Given the description of an element on the screen output the (x, y) to click on. 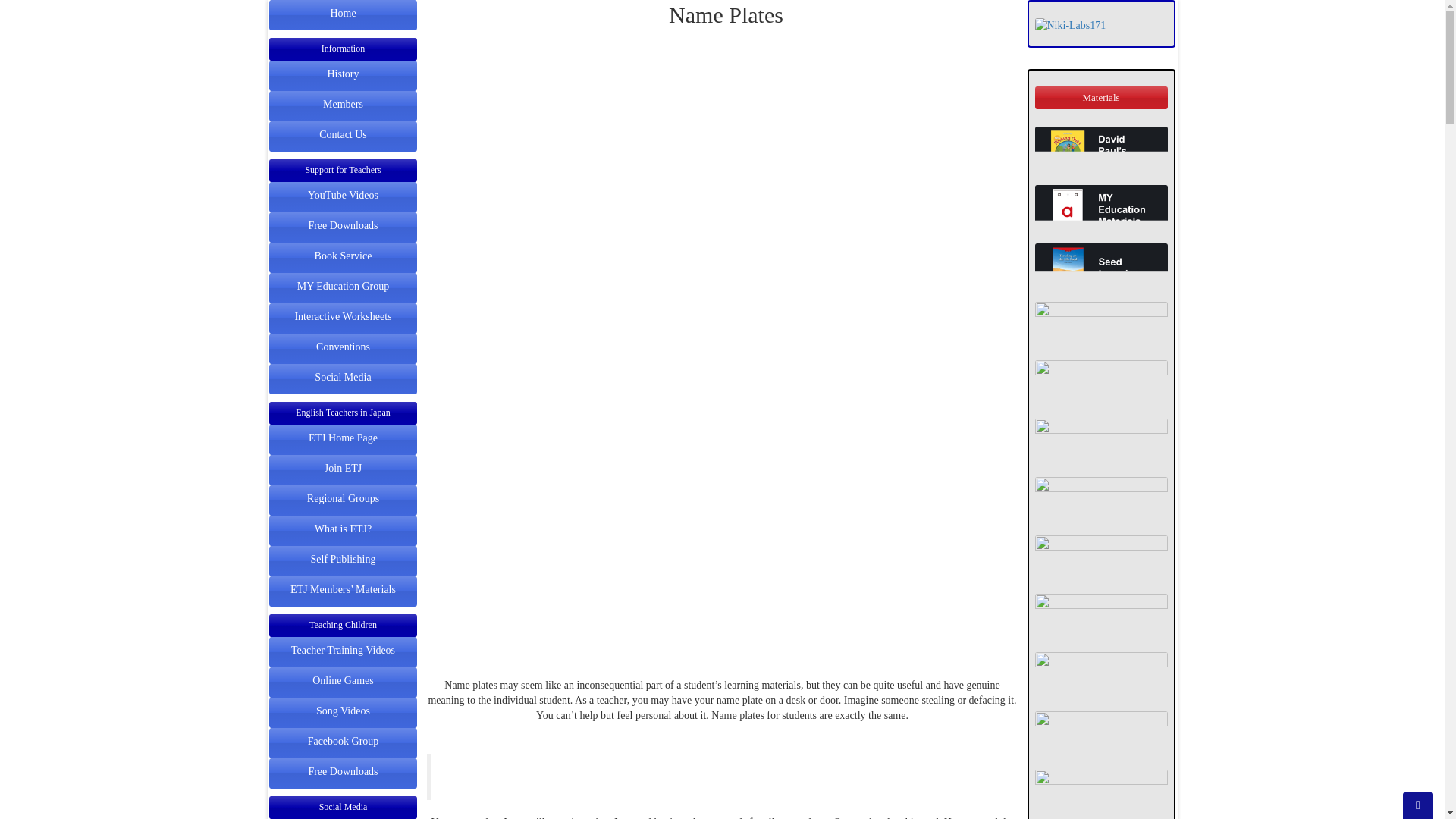
YouTube Videos (342, 194)
Online Games (342, 679)
ETJ Home Page (342, 436)
Interactive Worksheets (342, 315)
Free Downloads (342, 224)
myeducation (1100, 210)
MY Education Group (343, 285)
robertbl40a (1100, 560)
Facebook Group (342, 740)
wordenginebl40a (1100, 443)
Book Service (343, 254)
almabl40a (1100, 794)
Song Videos (342, 710)
Teacher Training Videos (342, 648)
tanuki300 (1100, 676)
